Given the description of an element on the screen output the (x, y) to click on. 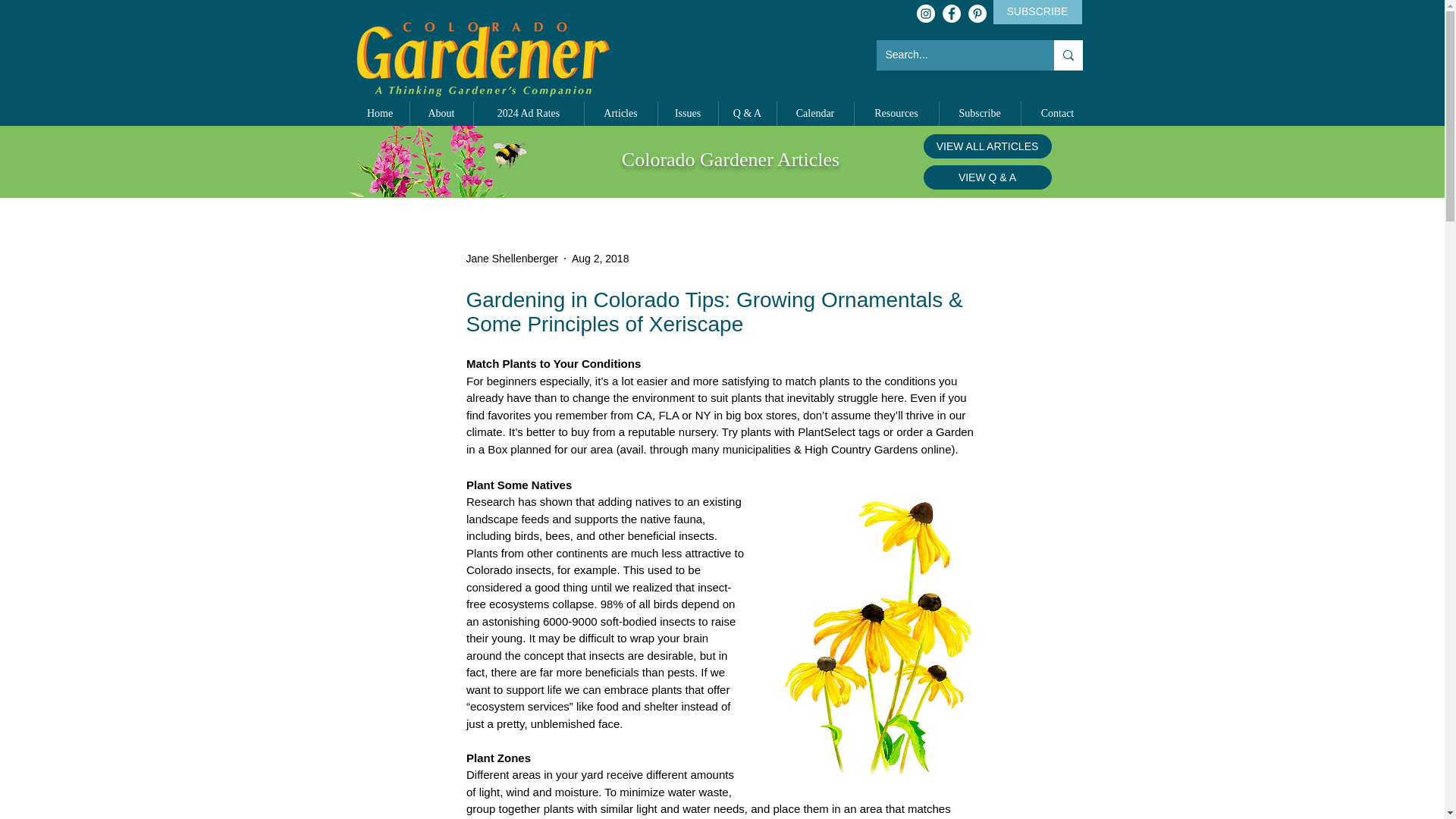
Colorado Gardener Articles (730, 159)
Contact (1056, 113)
Issues (687, 113)
Resources (895, 113)
VIEW ALL ARTICLES (987, 146)
Jane Shellenberger (511, 258)
Subscribe (979, 113)
Aug 2, 2018 (600, 257)
SUBSCRIBE (1036, 12)
Calendar (814, 113)
About (440, 113)
Home (379, 113)
Articles (619, 113)
2024 Ad Rates (528, 113)
